Given the description of an element on the screen output the (x, y) to click on. 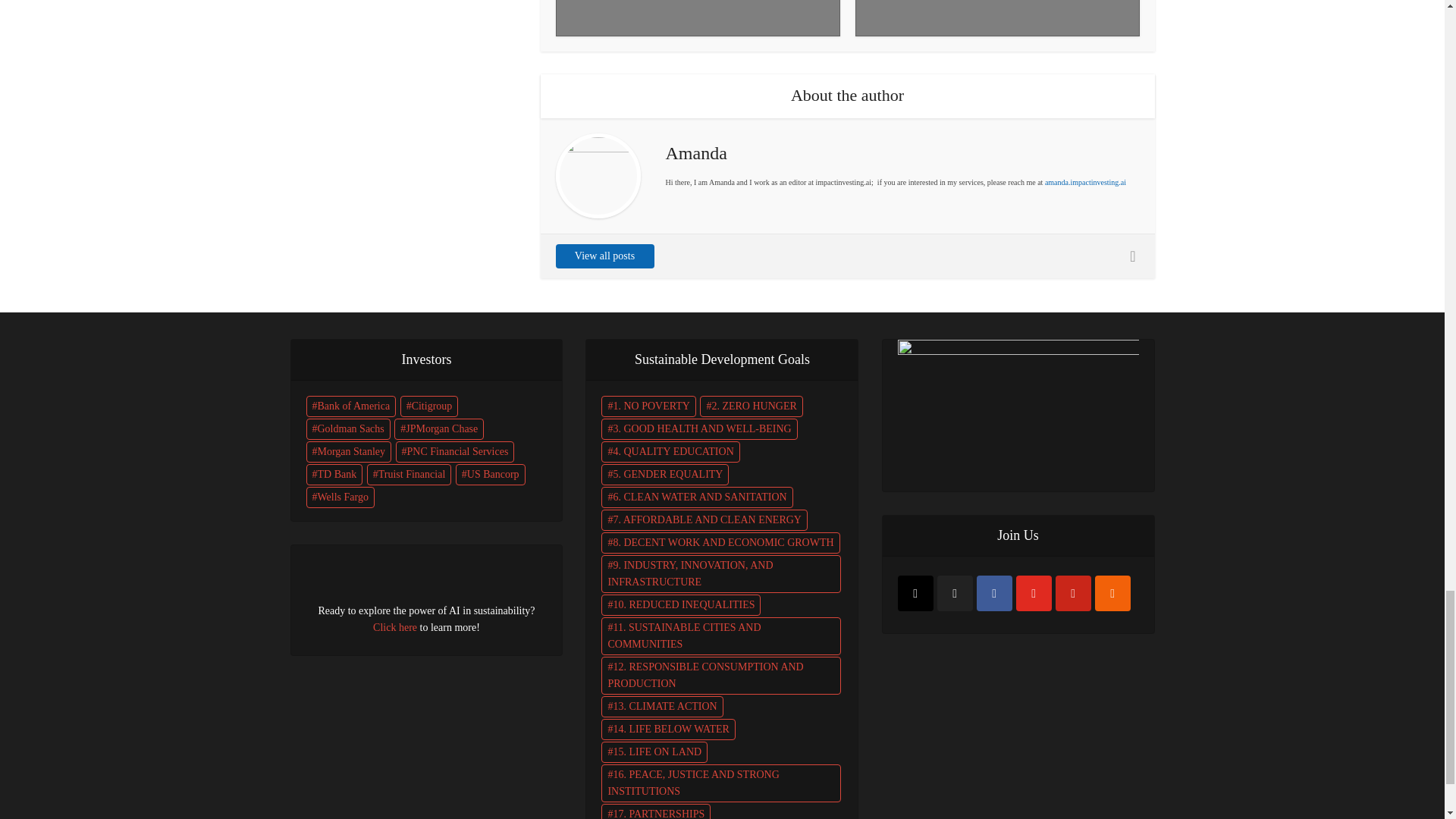
Pinterest (1072, 592)
YouTube (1033, 592)
Instagram (915, 592)
Go to SDG Compass (1018, 405)
Facebook (993, 592)
RSS (1112, 592)
